Given the description of an element on the screen output the (x, y) to click on. 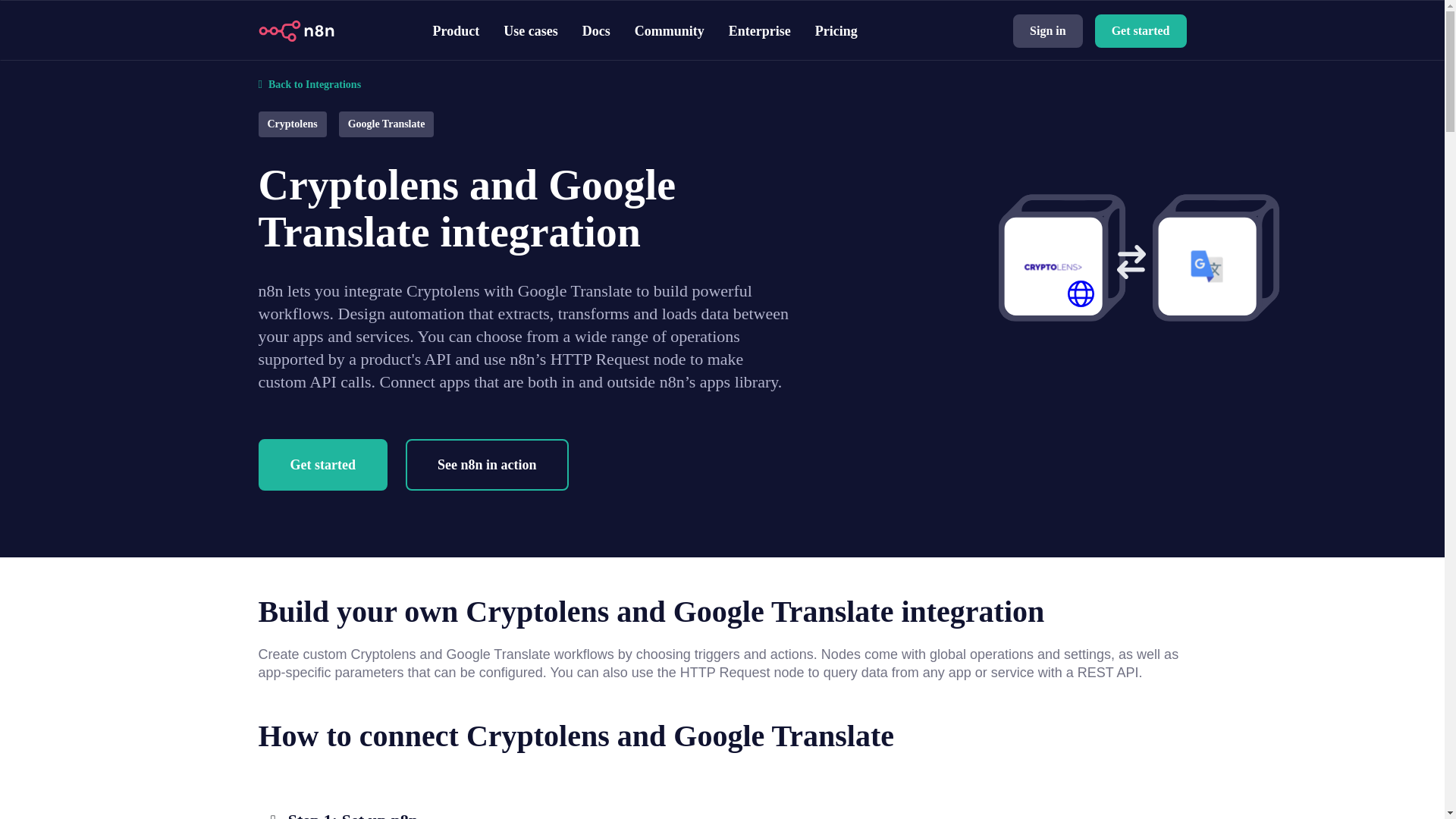
Get started (1140, 30)
Google Translate (386, 123)
Pricing (836, 31)
See n8n in action (487, 464)
Cryptolens (291, 123)
Docs (596, 31)
Get started (322, 464)
Sign in (1048, 30)
Product (455, 31)
Back to Integrations (721, 74)
Enterprise (759, 31)
